Given the description of an element on the screen output the (x, y) to click on. 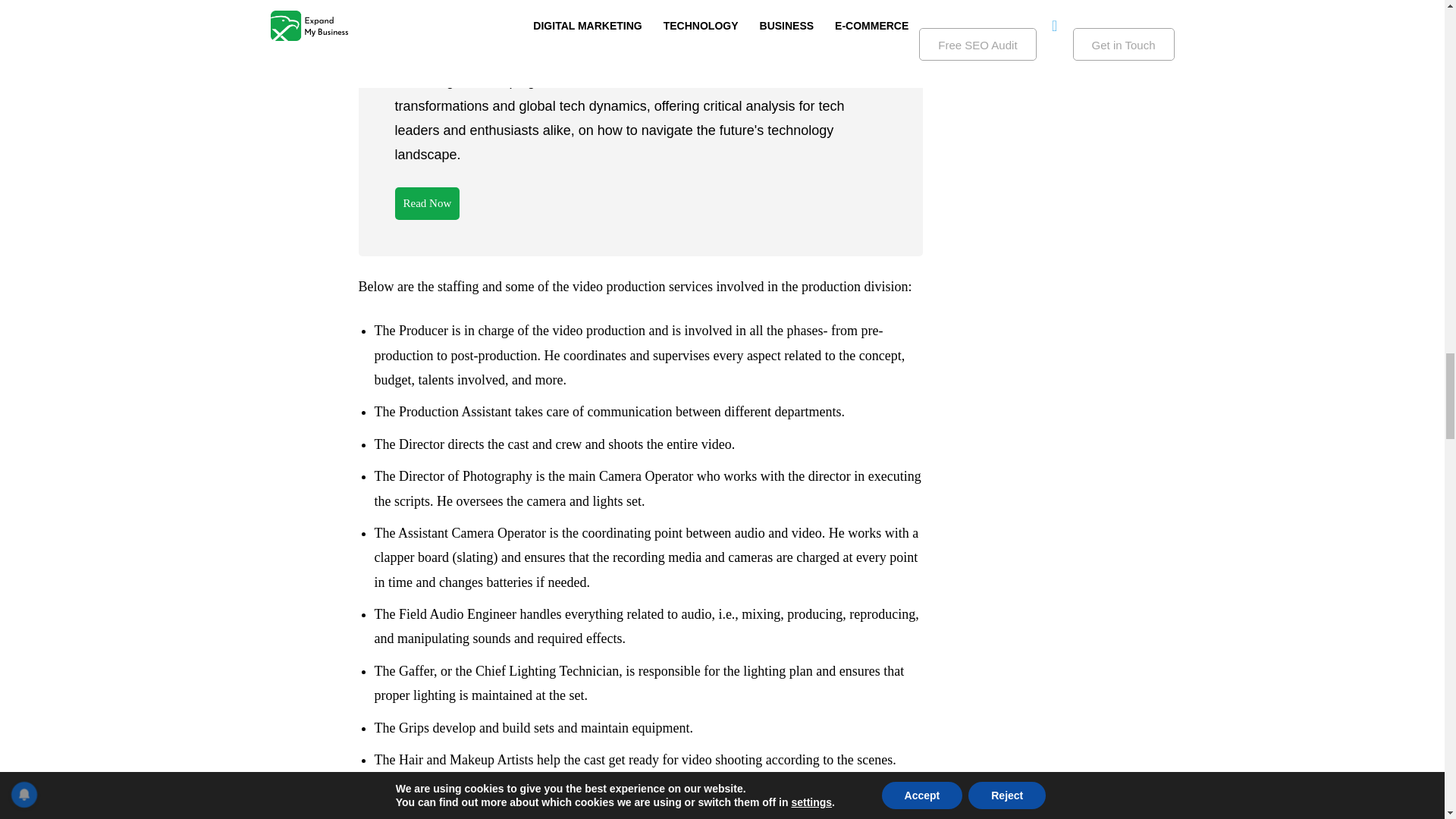
Read Now (427, 203)
